Given the description of an element on the screen output the (x, y) to click on. 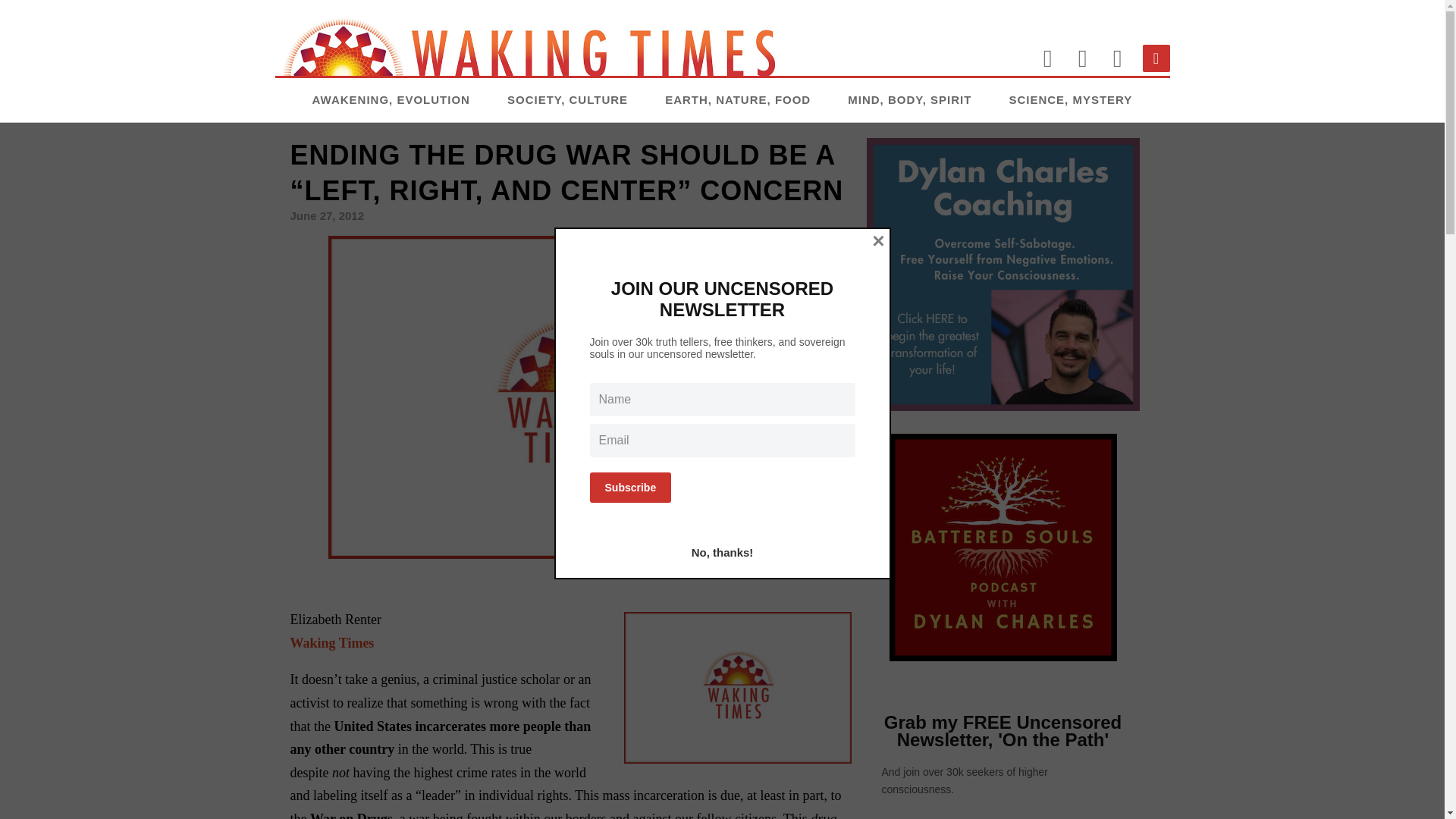
MIND, BODY, SPIRIT (909, 99)
AWAKENING, EVOLUTION (391, 99)
SCIENCE, MYSTERY (1070, 99)
060417-N-8157C-162 (736, 687)
SOCIETY, CULTURE (566, 99)
Waking Times (331, 642)
EARTH, NATURE, FOOD (737, 99)
